Given the description of an element on the screen output the (x, y) to click on. 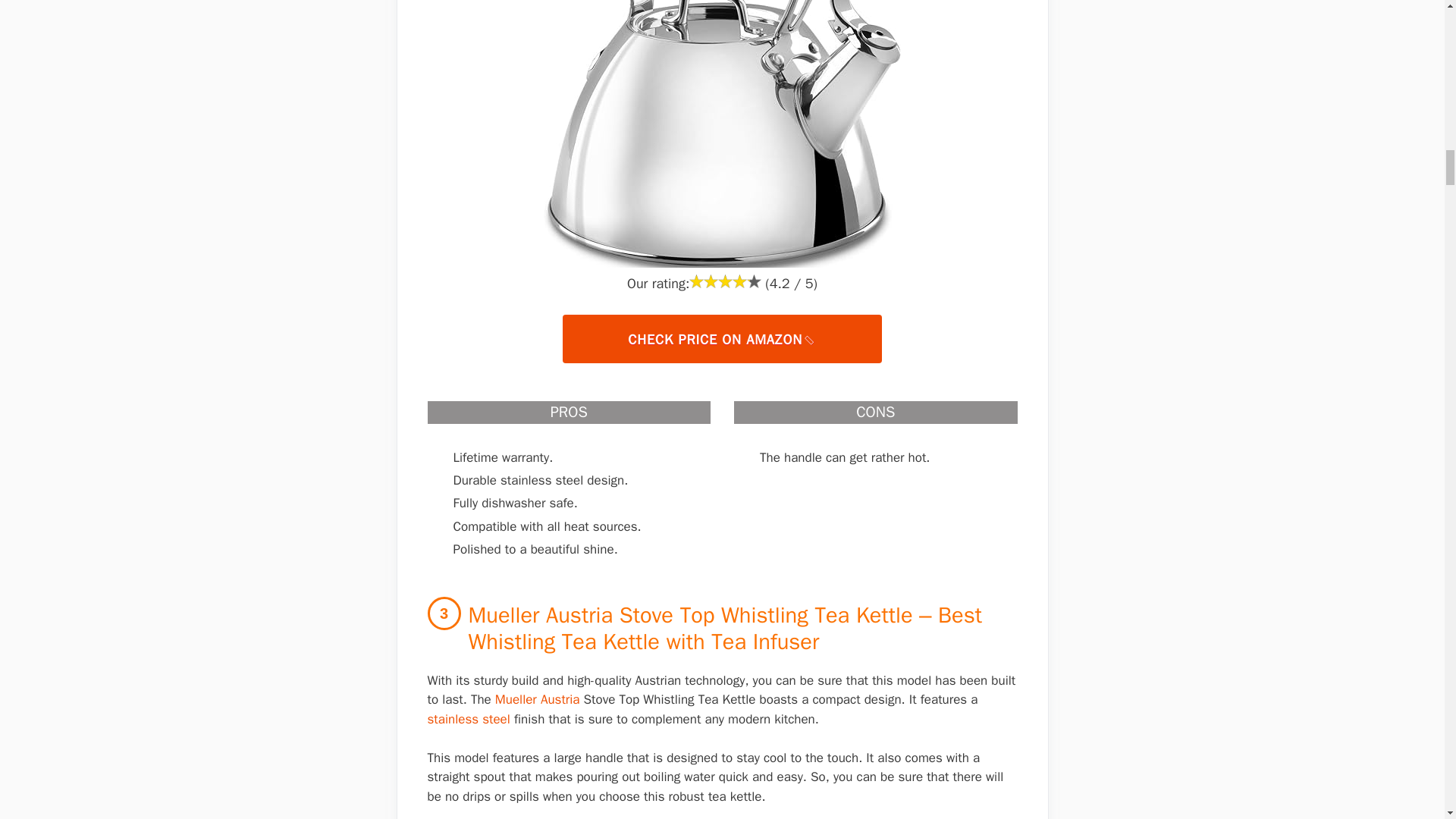
stainless steel (469, 719)
Mueller Austria (537, 699)
CHECK PRICE ON AMAZON (721, 338)
